Given the description of an element on the screen output the (x, y) to click on. 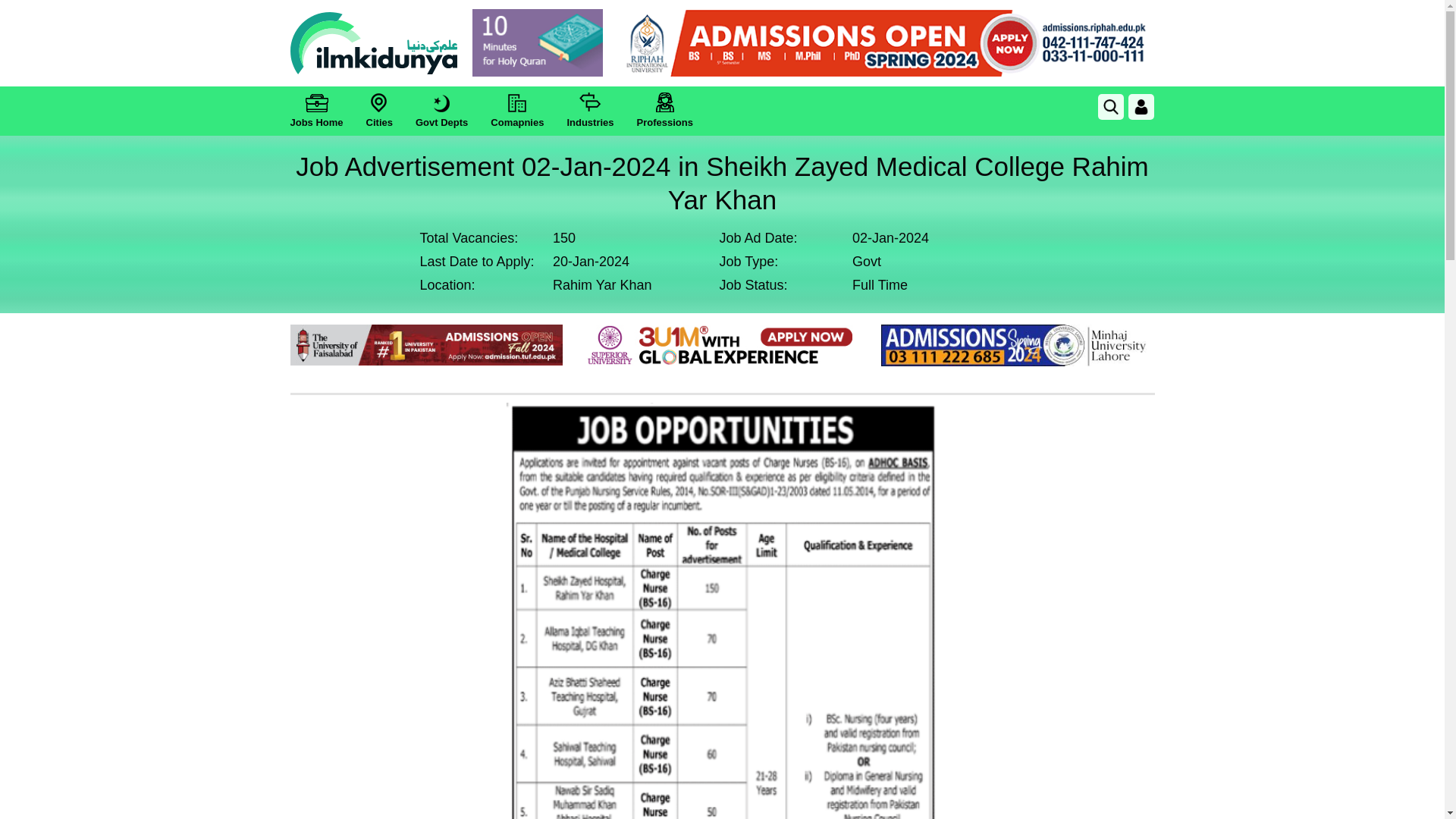
Govt Depts (440, 110)
Comapnies (516, 110)
Professions (665, 110)
Industries (589, 110)
Jobs Home (315, 110)
